Given the description of an element on the screen output the (x, y) to click on. 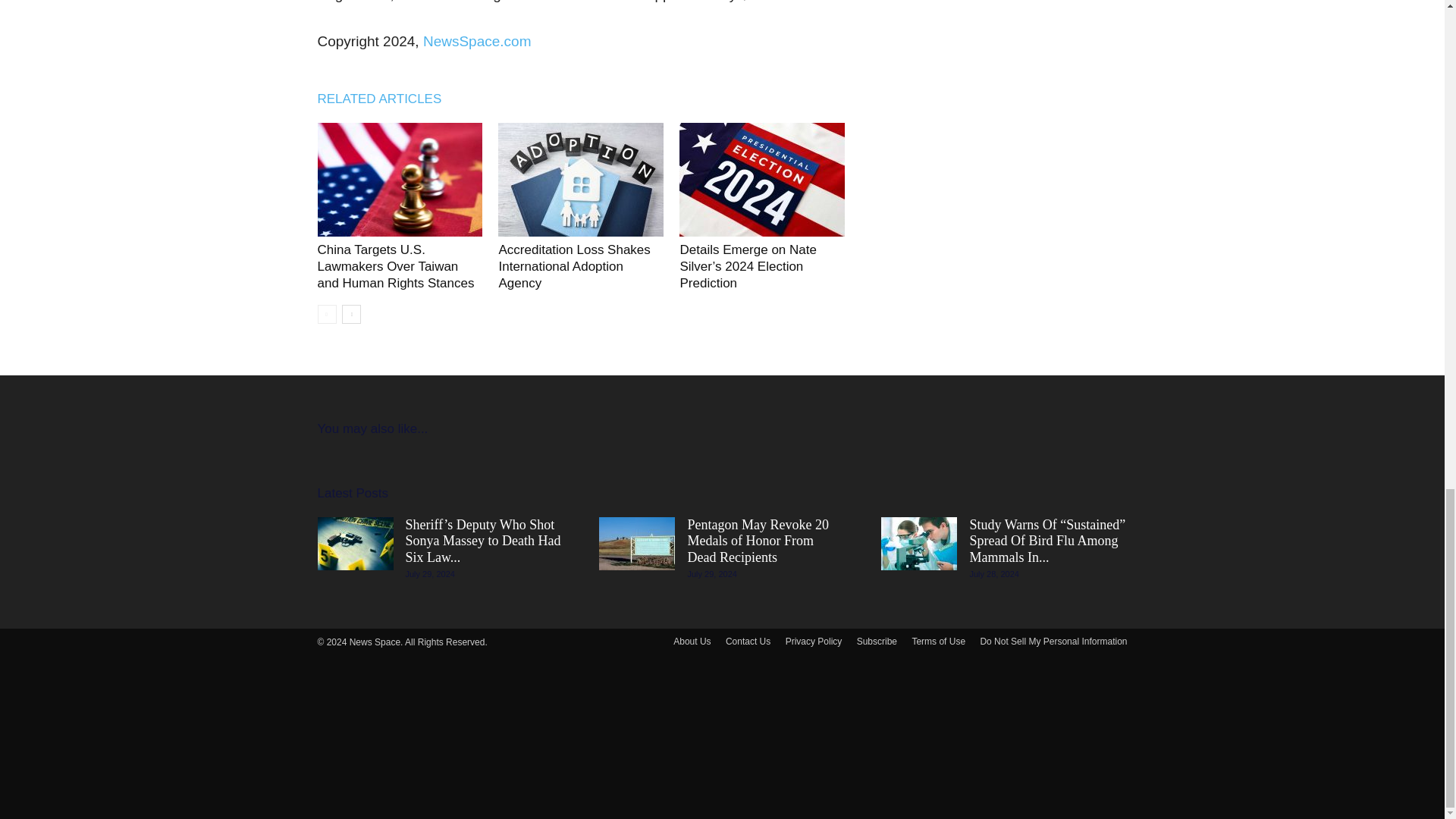
Accreditation Loss Shakes International Adoption Agency (580, 179)
Accreditation Loss Shakes International Adoption Agency (573, 266)
NewsSpace.com (477, 41)
RELATED ARTICLES (387, 98)
Accreditation Loss Shakes International Adoption Agency (573, 266)
